Given the description of an element on the screen output the (x, y) to click on. 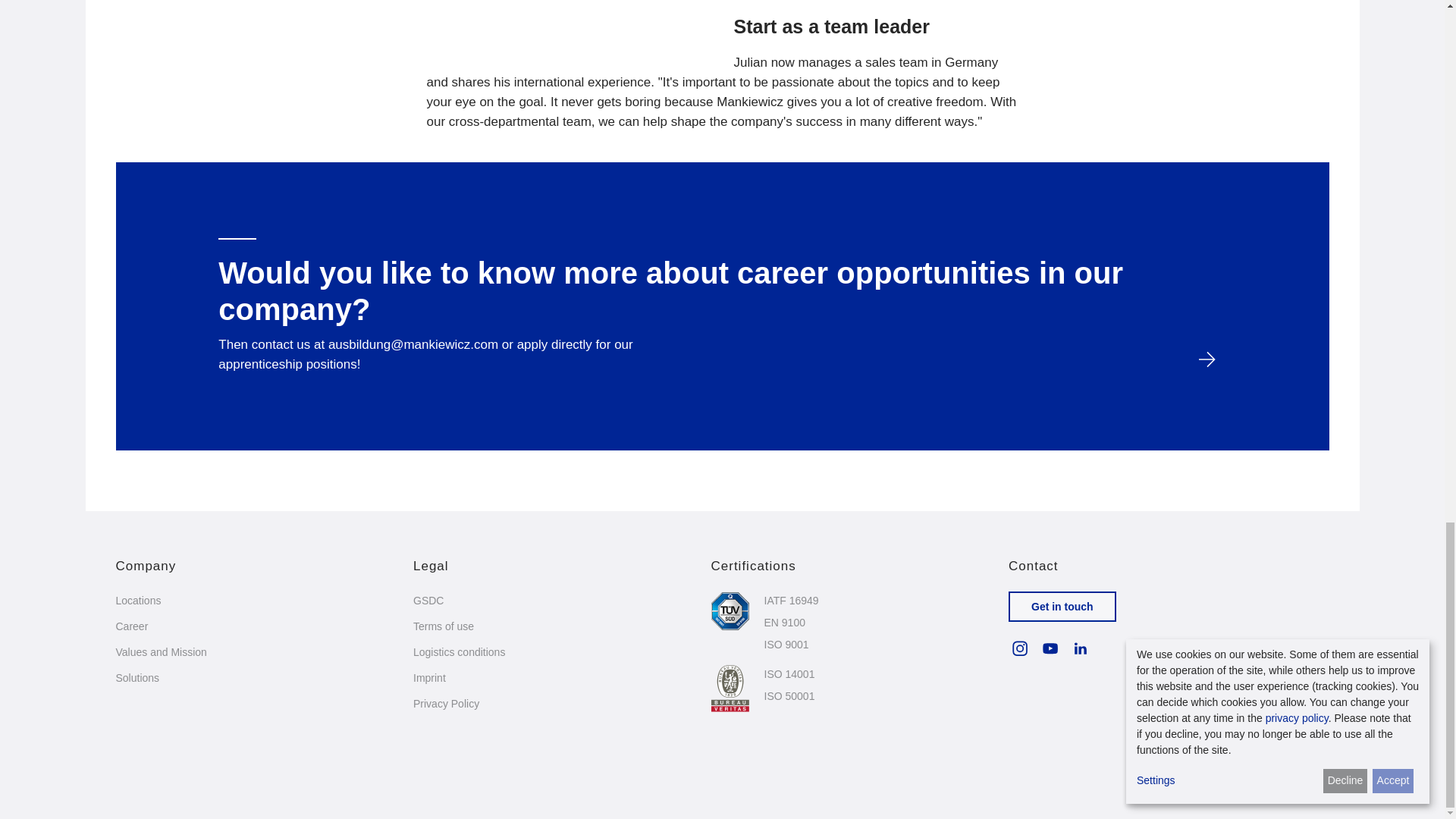
Visit Mankiewicz on LinkedIn (1080, 648)
Visit Mankiewicz on YouTube (1050, 648)
Visit Mankiewicz on Instagram (1019, 648)
